Given the description of an element on the screen output the (x, y) to click on. 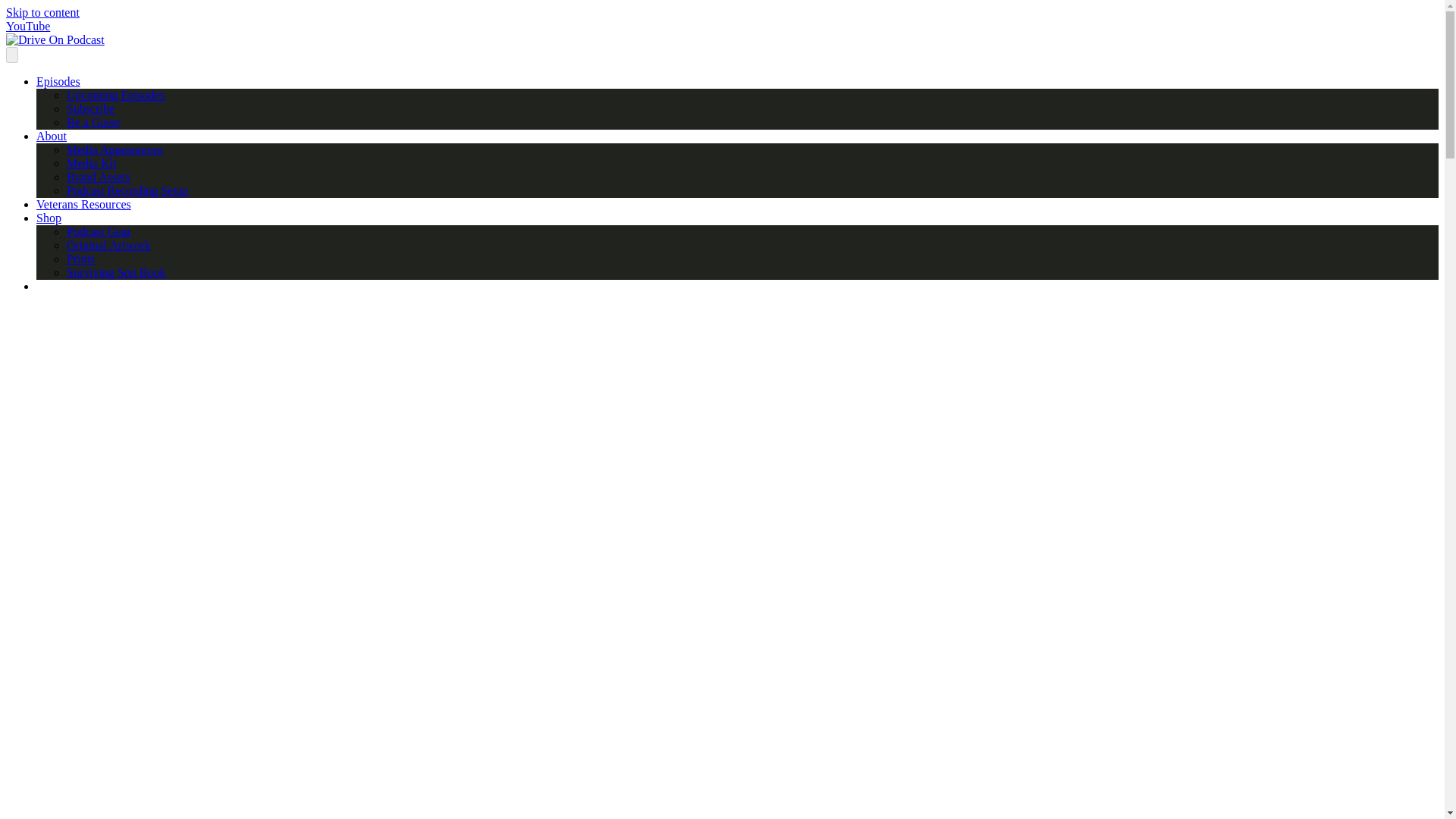
Podcast Recording Setup (127, 190)
Prints (80, 258)
Media Kit (91, 163)
Podcast Gear (98, 231)
Skip to content (42, 11)
Episodes (58, 81)
Be a Guest (92, 122)
YouTube (27, 25)
Surviving Son Book (115, 272)
Subscribe (90, 108)
Original Artwork (108, 245)
Veterans Resources (83, 204)
Shop (48, 217)
Media Appearances (114, 149)
About (51, 135)
